Given the description of an element on the screen output the (x, y) to click on. 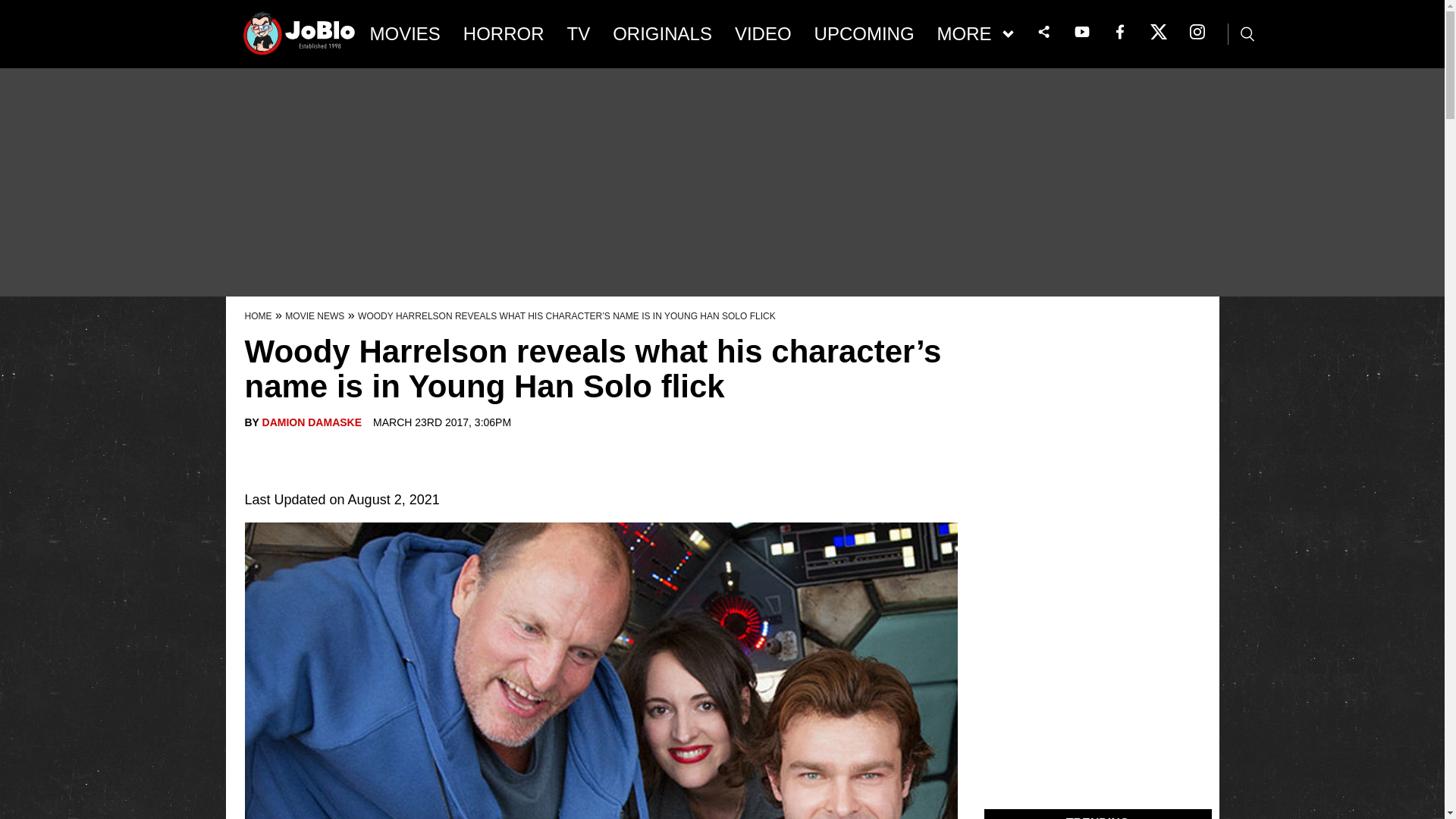
MORE (976, 34)
MOVIES (405, 34)
JoBlo Logo (299, 38)
ORIGINALS (662, 34)
UPCOMING (863, 34)
HORROR (503, 34)
TV (578, 34)
VIDEO (762, 34)
